Given the description of an element on the screen output the (x, y) to click on. 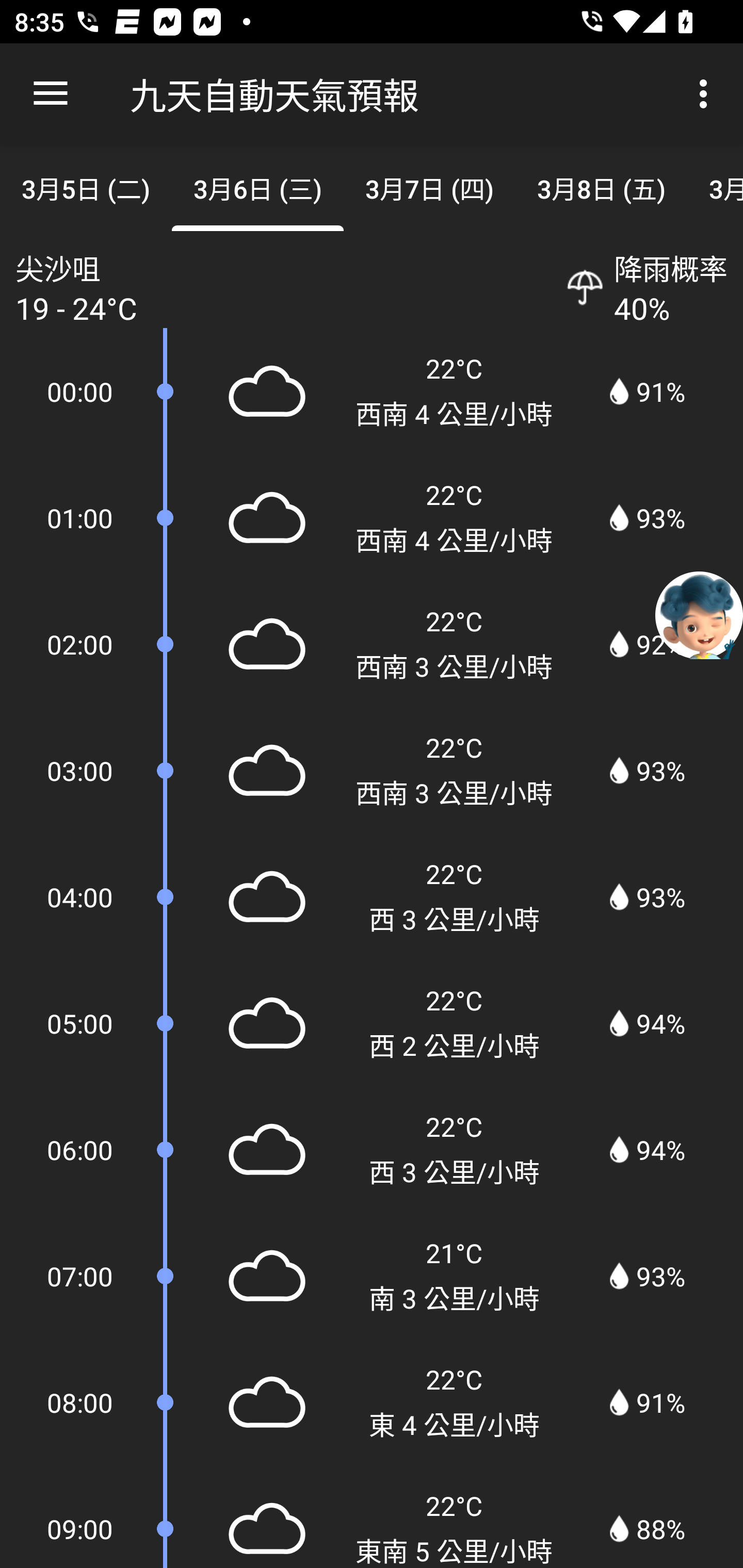
向上瀏覽 (50, 93)
更多選項 (706, 93)
3月5日 (二) (85, 187)
3月7日 (四) (429, 187)
3月8日 (五) (601, 187)
聊天機械人 (699, 614)
